Given the description of an element on the screen output the (x, y) to click on. 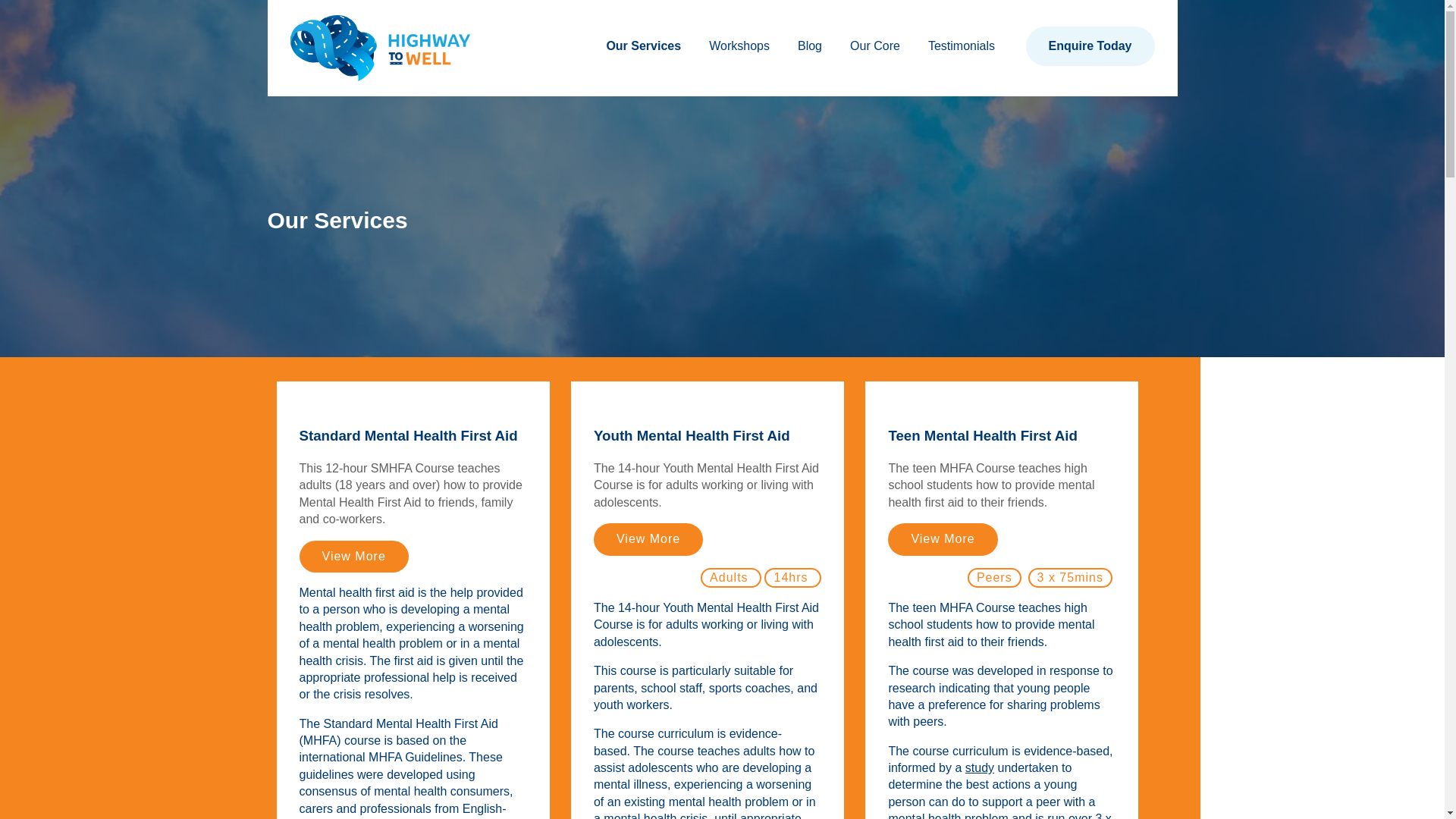
View More Element type: text (352, 556)
study Element type: text (979, 767)
Workshops Element type: text (735, 45)
Testimonials Element type: text (957, 45)
View More Element type: text (942, 539)
Our Services Element type: text (639, 45)
Blog Element type: text (806, 45)
Home Page Element type: hover (379, 48)
View More Element type: text (647, 539)
Our Core Element type: text (871, 45)
Enquire Today Element type: text (1090, 45)
